Given the description of an element on the screen output the (x, y) to click on. 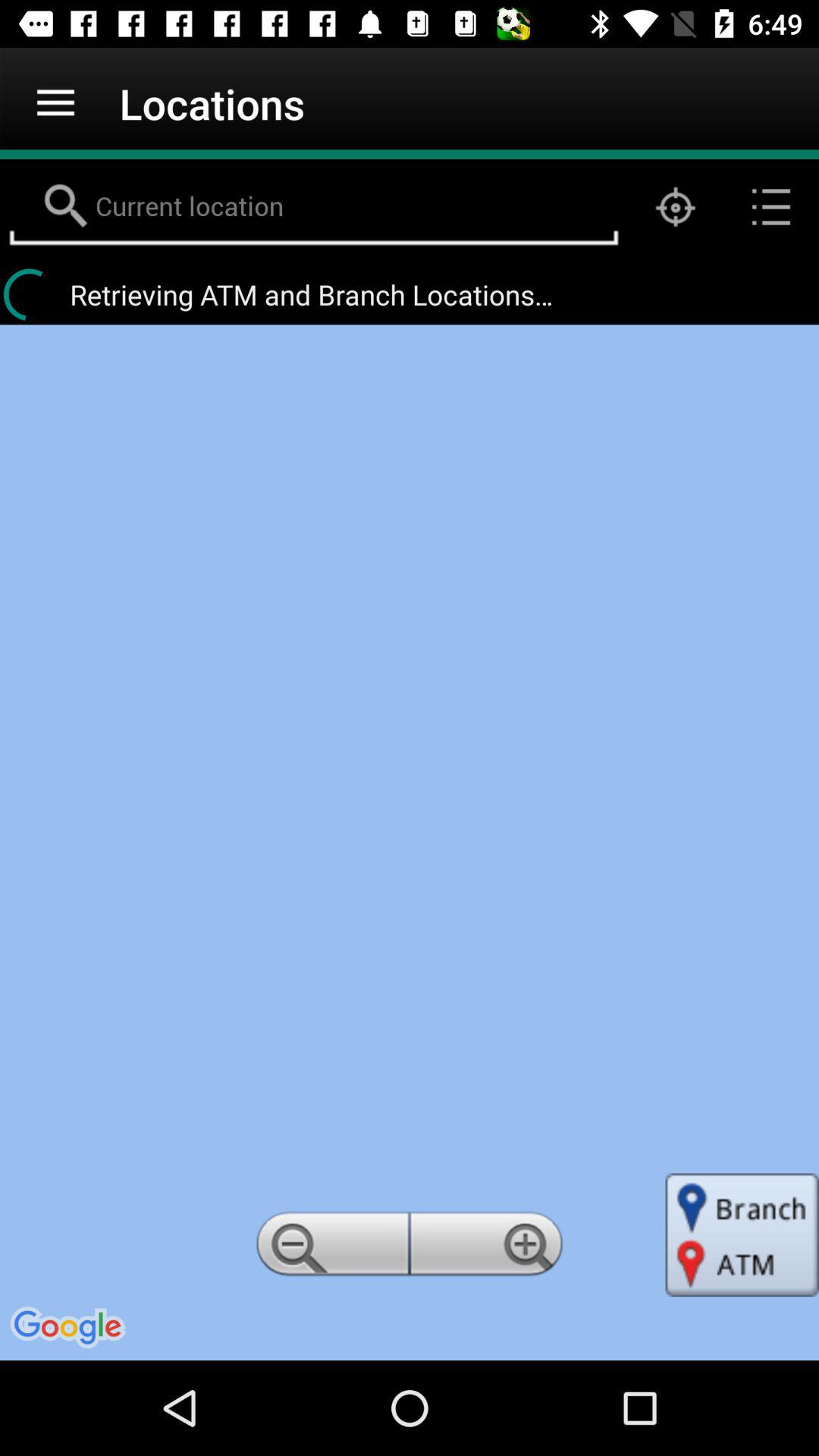
turn off item below the retrieving atm and (329, 1248)
